Given the description of an element on the screen output the (x, y) to click on. 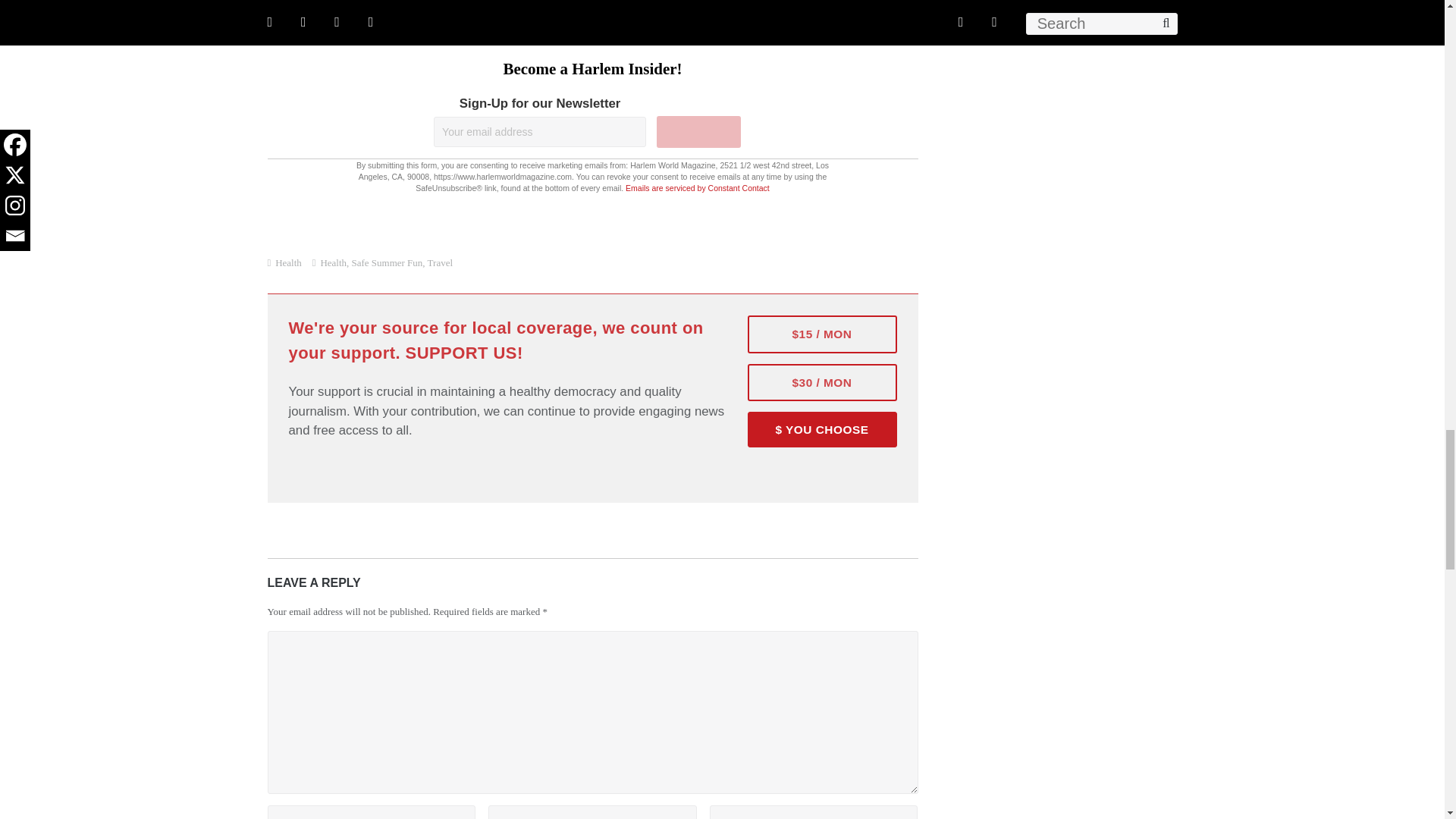
Emails are serviced by Constant Contact (698, 187)
Safe Summer Fun (387, 262)
Sign up (698, 132)
Travel (440, 262)
Sign up (698, 132)
Health (288, 262)
Health (333, 262)
